Given the description of an element on the screen output the (x, y) to click on. 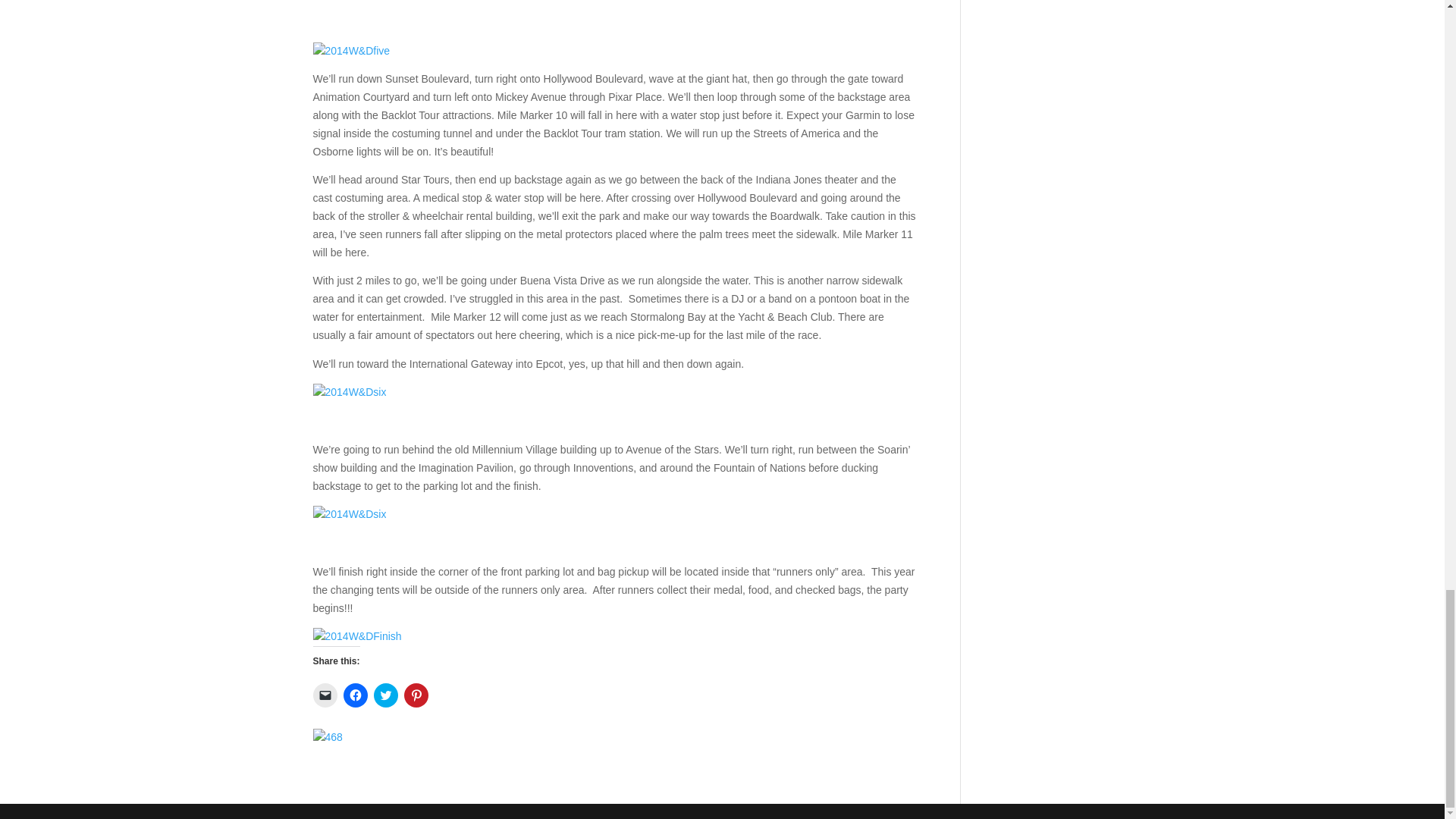
Click to email a link to a friend (324, 695)
Click to share on Pinterest (415, 695)
Click to share on Facebook (354, 695)
Click to share on Twitter (384, 695)
